Given the description of an element on the screen output the (x, y) to click on. 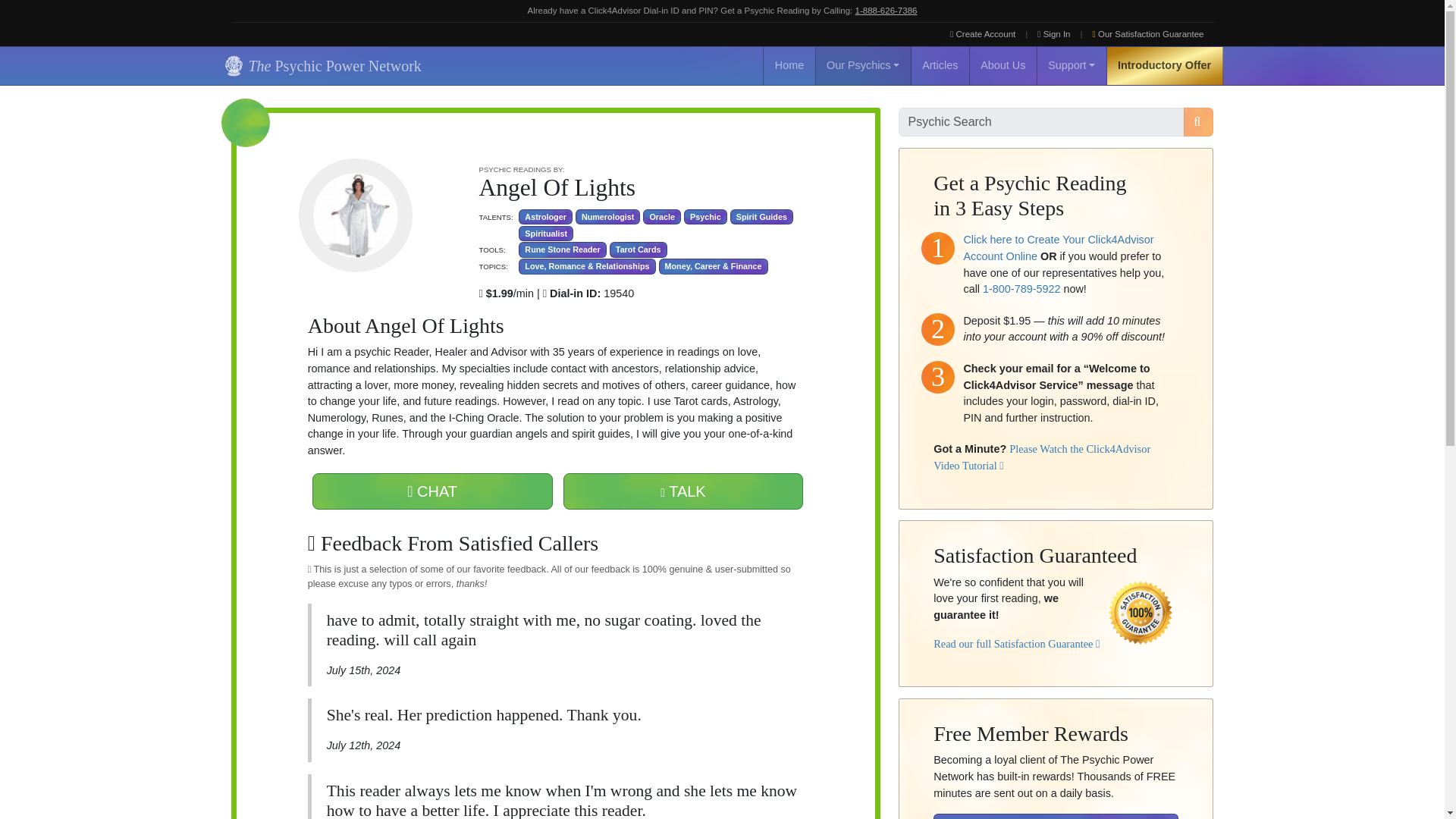
Our Satisfaction Guarantee (1148, 33)
Our Psychics (863, 65)
Create Account (982, 33)
The Psychic Power Network (320, 65)
Spirit Guides (761, 216)
Tarot Cards (638, 249)
Support (1071, 65)
Rune Stone Reader (561, 249)
Sign In (1053, 33)
Home (788, 65)
